Given the description of an element on the screen output the (x, y) to click on. 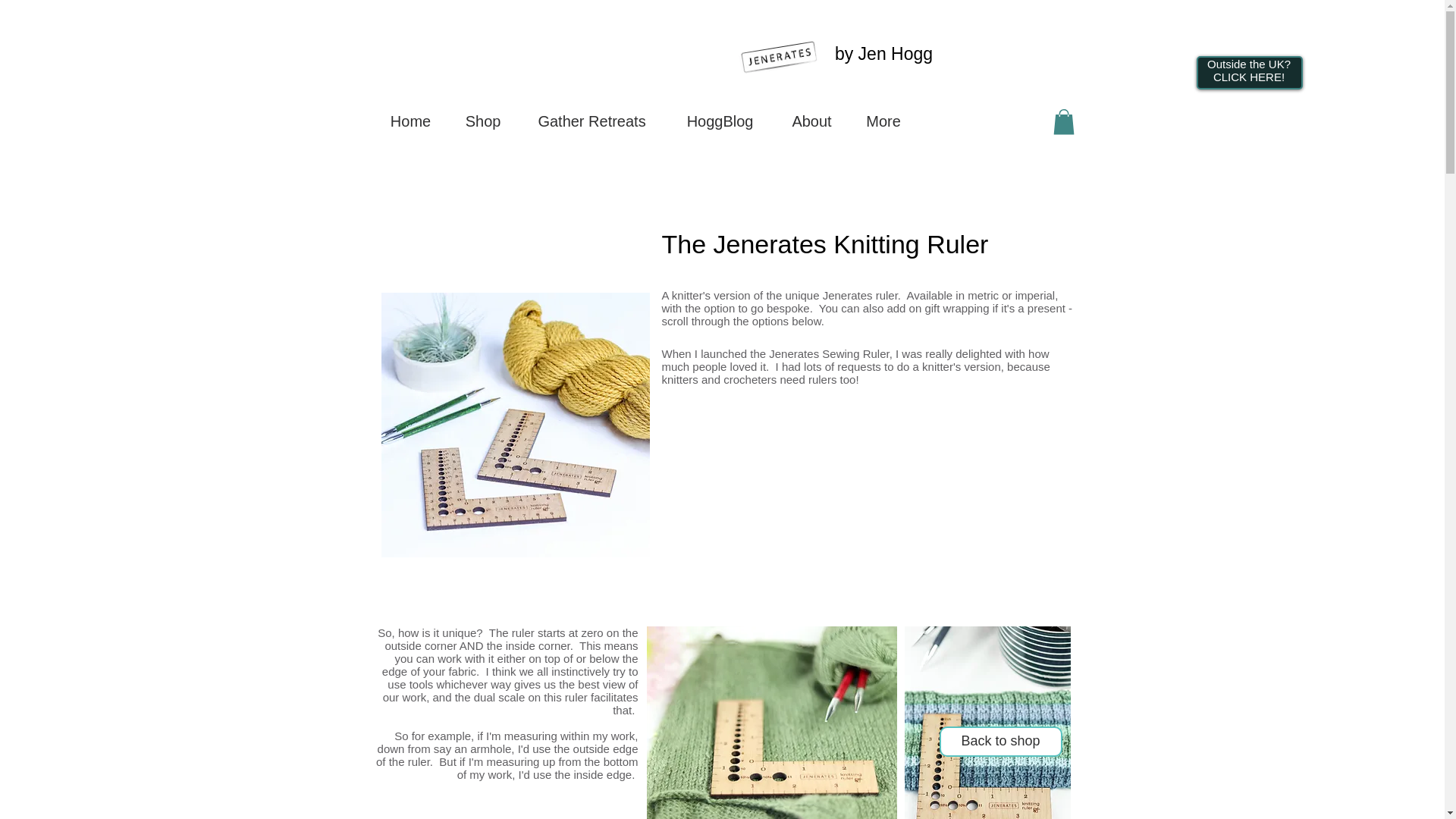
Home (410, 121)
CLICK HERE! (1248, 76)
Shop (483, 121)
About (812, 121)
HoggBlog (720, 121)
by Jen Hogg (883, 53)
Gather Retreats (592, 121)
Outside the UK? (1248, 63)
